Given the description of an element on the screen output the (x, y) to click on. 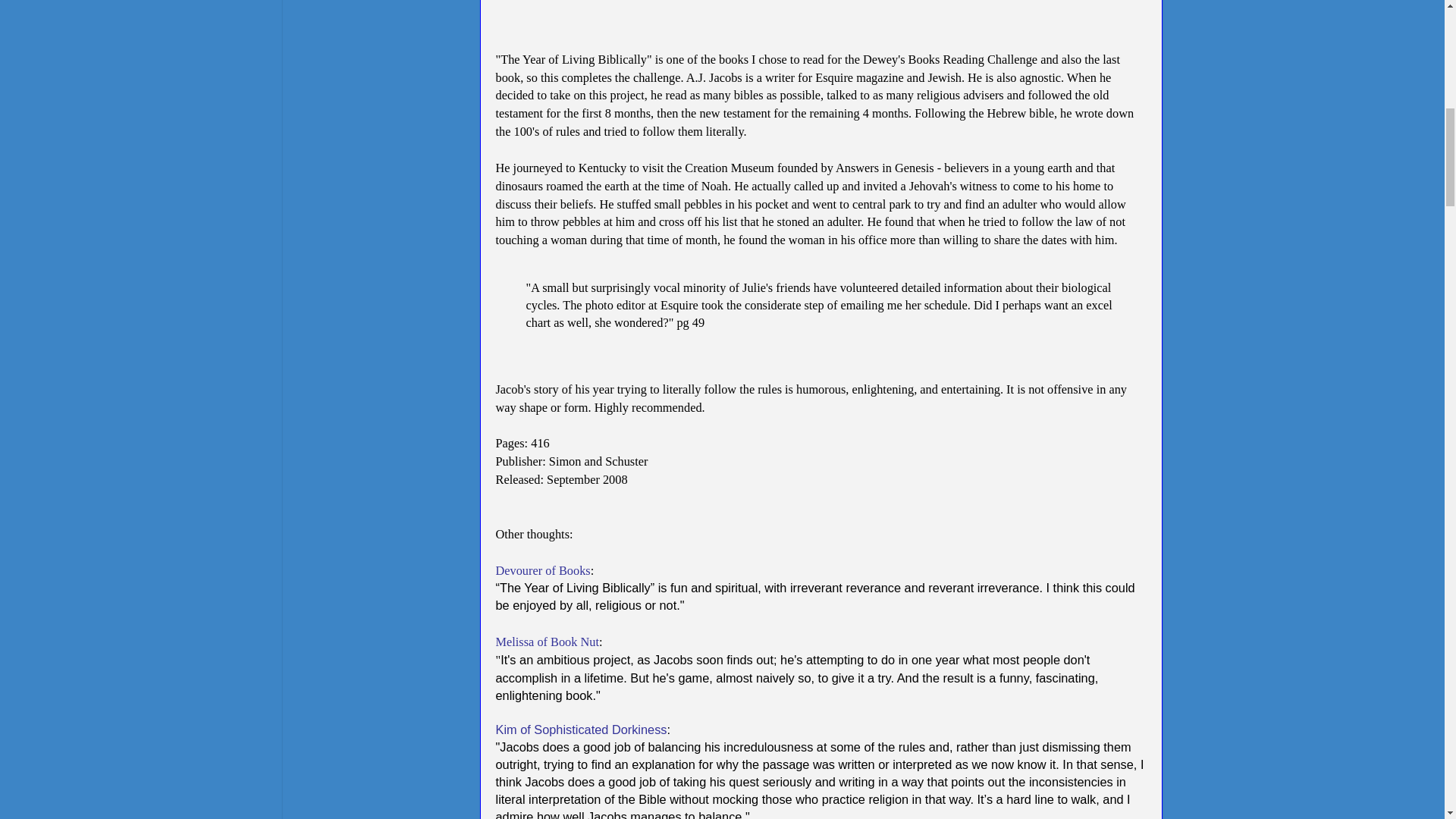
Devourer of Books (543, 569)
Kim of Sophisticated Dorkiness (581, 729)
Melissa of Book Nut (547, 641)
